Given the description of an element on the screen output the (x, y) to click on. 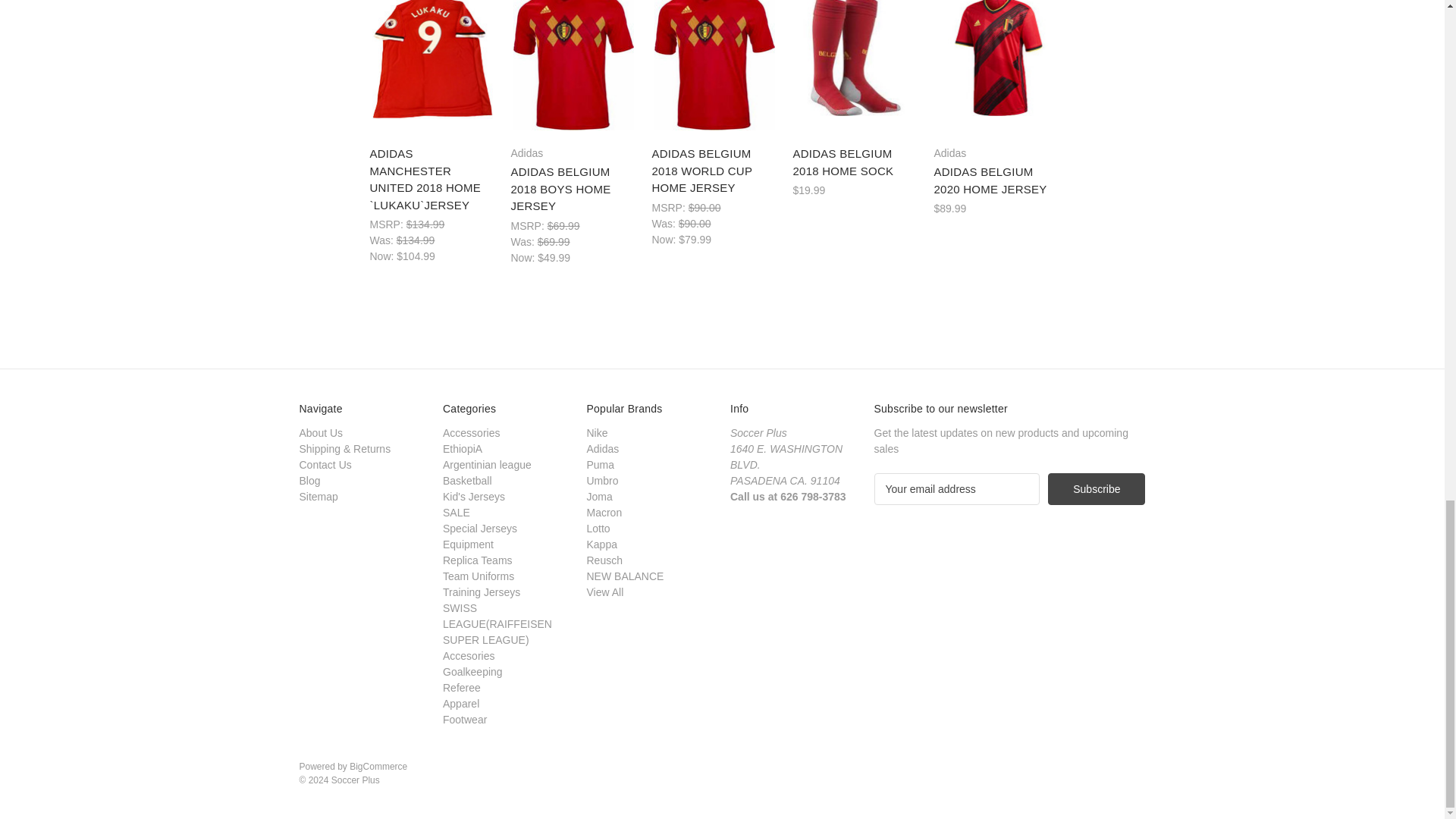
ADIDAS BELGIUM 2018 BOYS HOME JERSEY (572, 65)
ADIDAS BELGIUM 2018 WORLD CUP HOME JERSEY (713, 65)
ADIDAS BELGIUM 2018 HOME SOCK (854, 58)
ADIDAS BELGIUM 2020 HOME JERSEY (996, 58)
Subscribe (1096, 489)
